Given the description of an element on the screen output the (x, y) to click on. 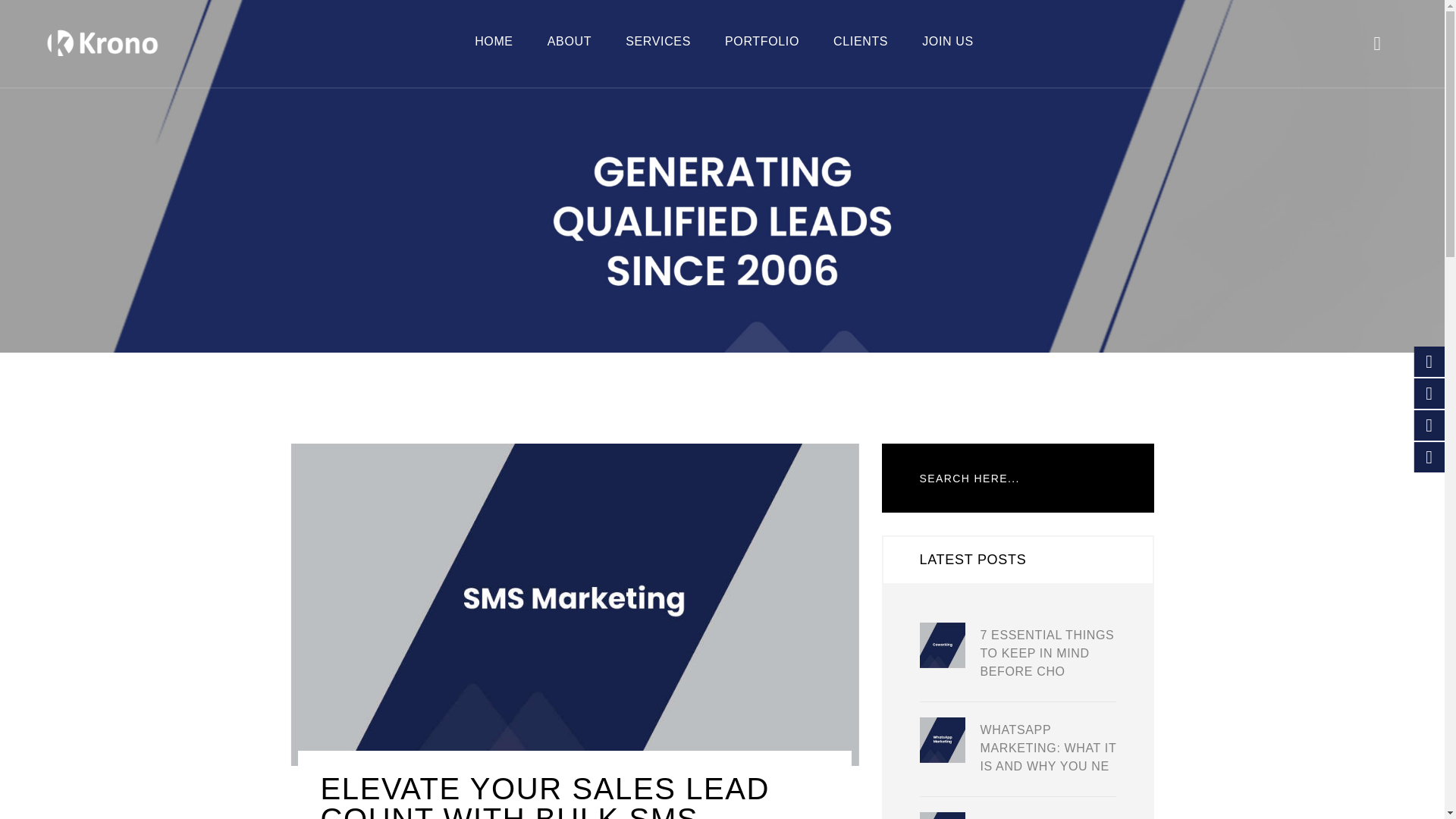
PORTFOLIO (762, 41)
SERVICES (658, 41)
ABOUT (569, 41)
JOIN US (947, 41)
CLIENTS (860, 41)
HOME (493, 41)
